Given the description of an element on the screen output the (x, y) to click on. 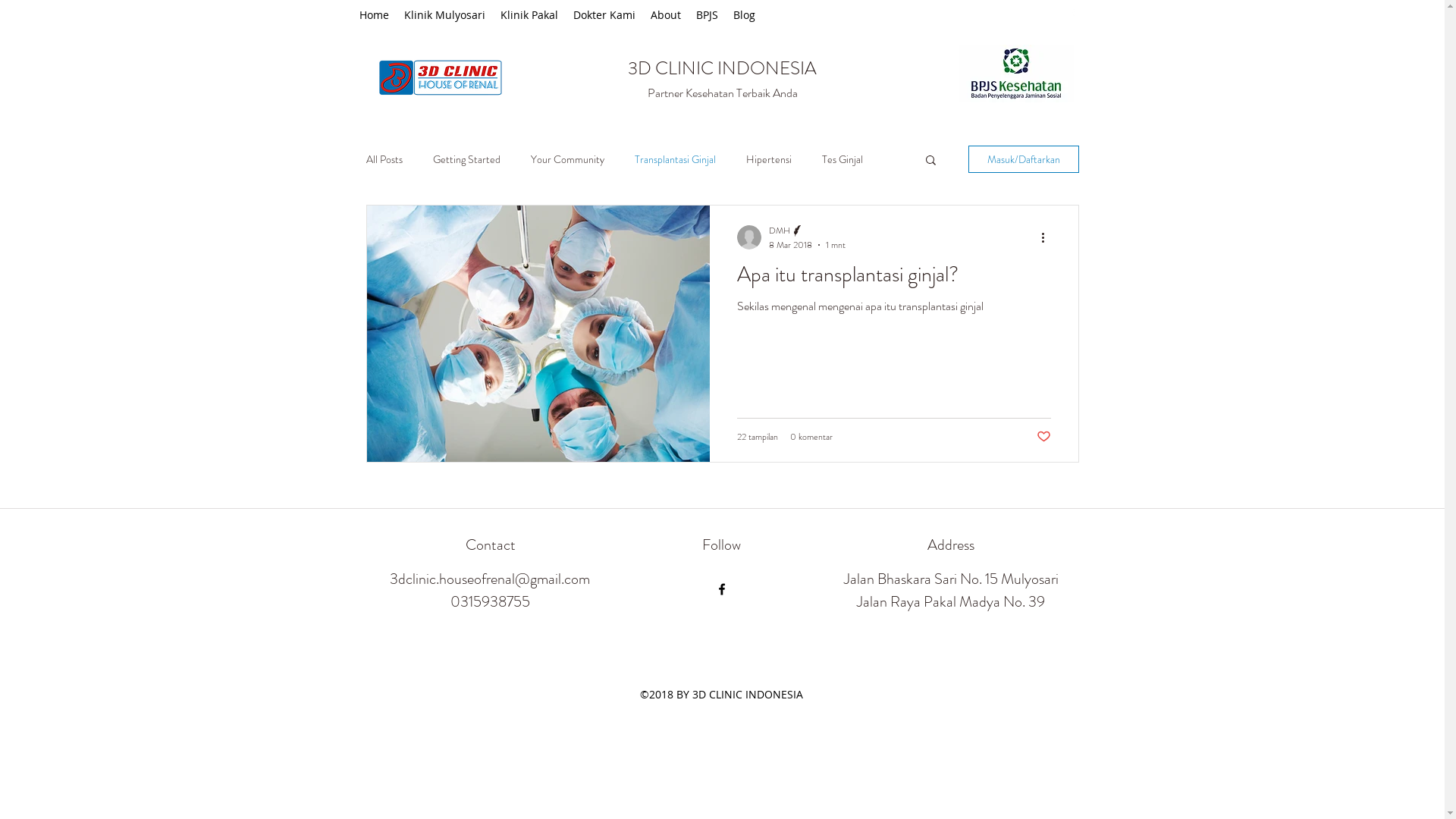
Blog Element type: text (743, 14)
About Element type: text (665, 14)
Masuk/Daftarkan Element type: text (1022, 158)
Klinik Pakal Element type: text (528, 14)
Hipertensi Element type: text (768, 158)
Tes Ginjal Element type: text (842, 158)
Home Element type: text (373, 14)
Apa itu transplantasi ginjal? Element type: text (894, 278)
logo 3d png.png Element type: hover (439, 77)
Getting Started Element type: text (465, 158)
Your Community Element type: text (567, 158)
3dclinic.houseofrenal@gmail.com Element type: text (489, 578)
Klinik Mulyosari Element type: text (443, 14)
0 komentar Element type: text (811, 436)
BPJS Element type: text (706, 14)
Cara Mudah Mendaftarkan BPJS Online.jpg Element type: hover (1015, 73)
3D CLINIC INDONESIA Element type: text (721, 68)
All Posts Element type: text (383, 158)
Transplantasi Ginjal Element type: text (674, 158)
Dokter Kami Element type: text (604, 14)
Postingan tidak ditandai sebagai disukai Element type: text (1042, 437)
